Given the description of an element on the screen output the (x, y) to click on. 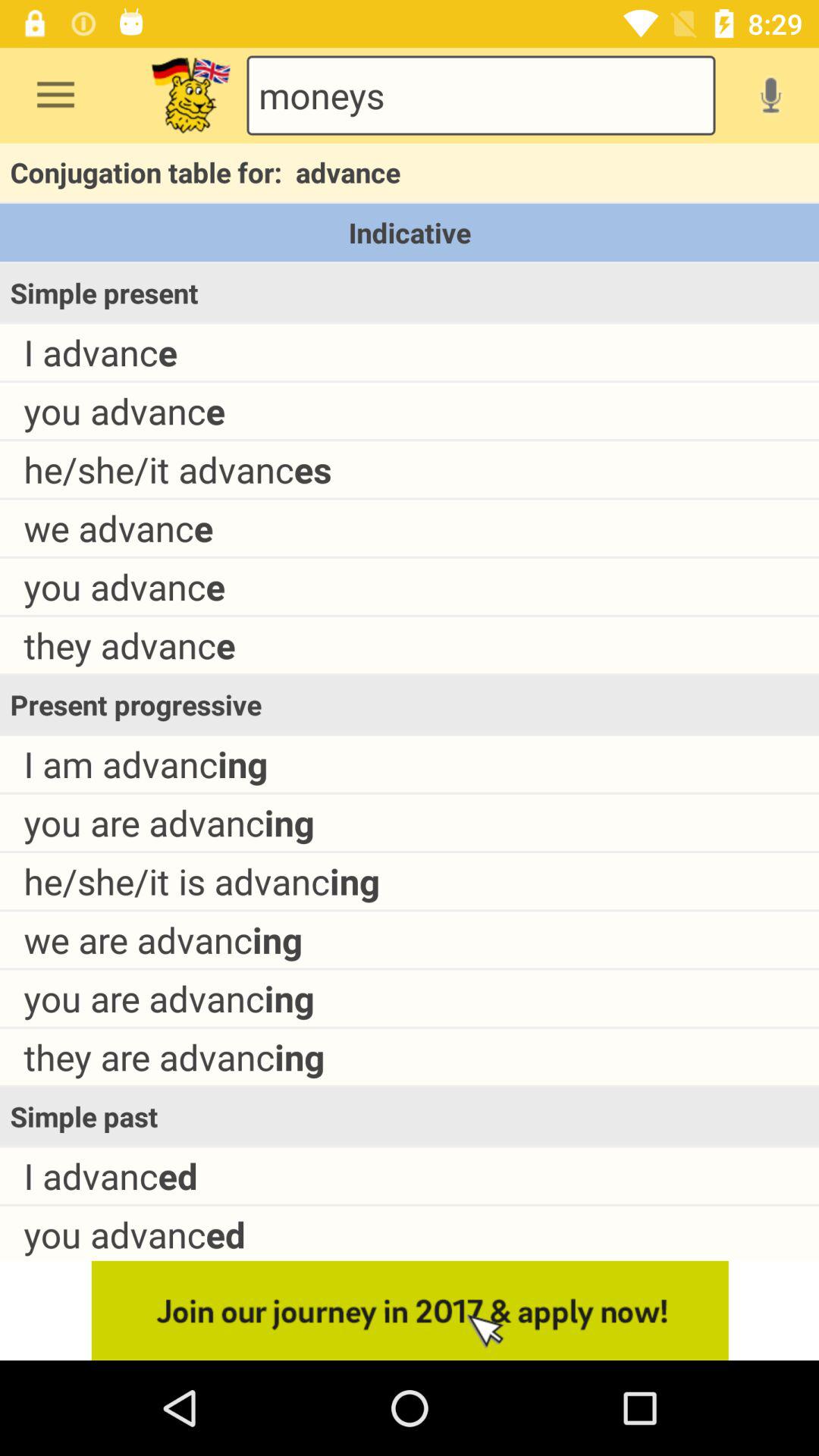
logo (190, 95)
